Given the description of an element on the screen output the (x, y) to click on. 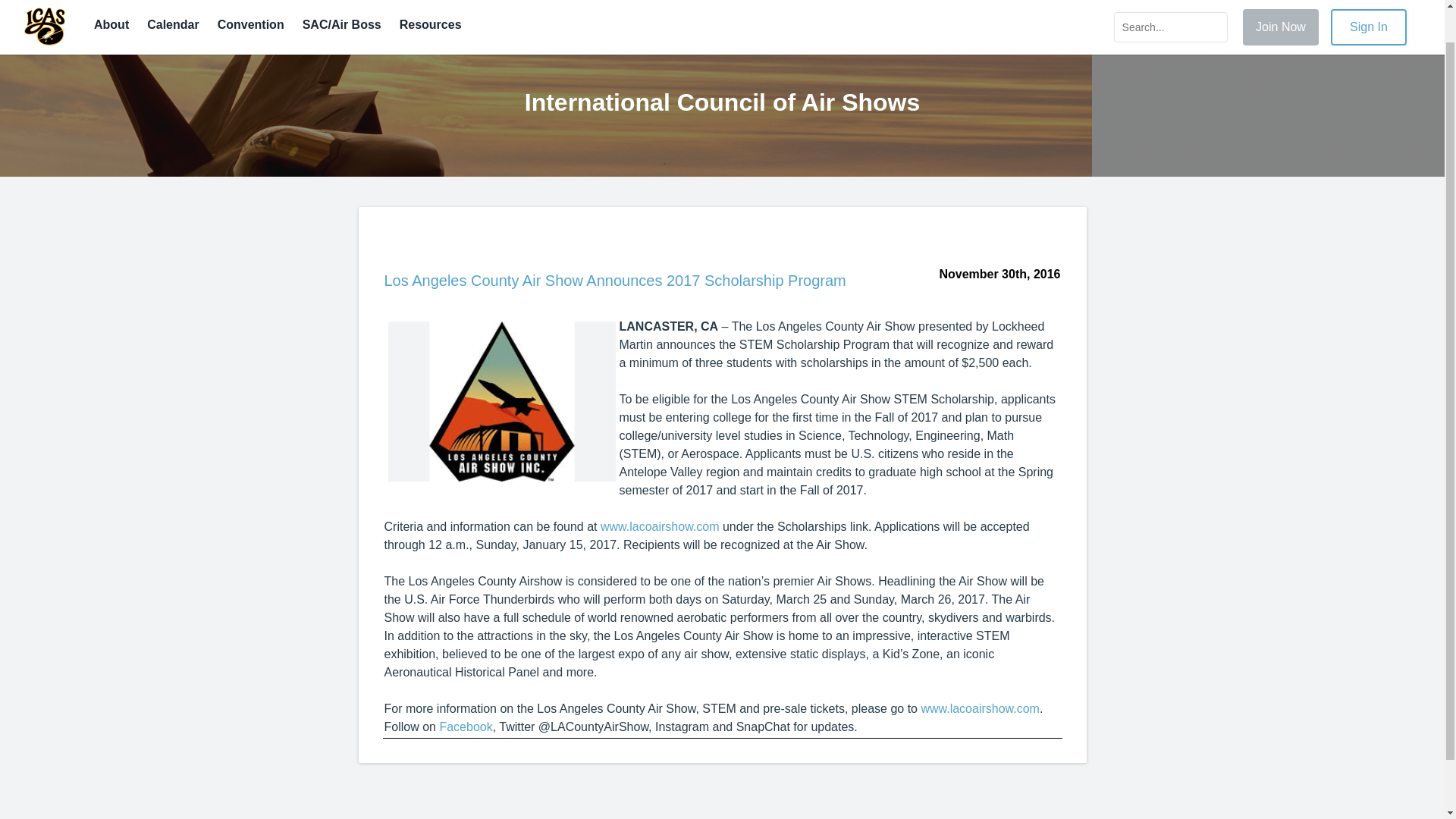
www.lacoairshow.com (659, 526)
www.lacoairshow.com (979, 707)
Search (1170, 3)
Sign In (1368, 4)
Join Now (1281, 4)
Facebook (465, 726)
